Given the description of an element on the screen output the (x, y) to click on. 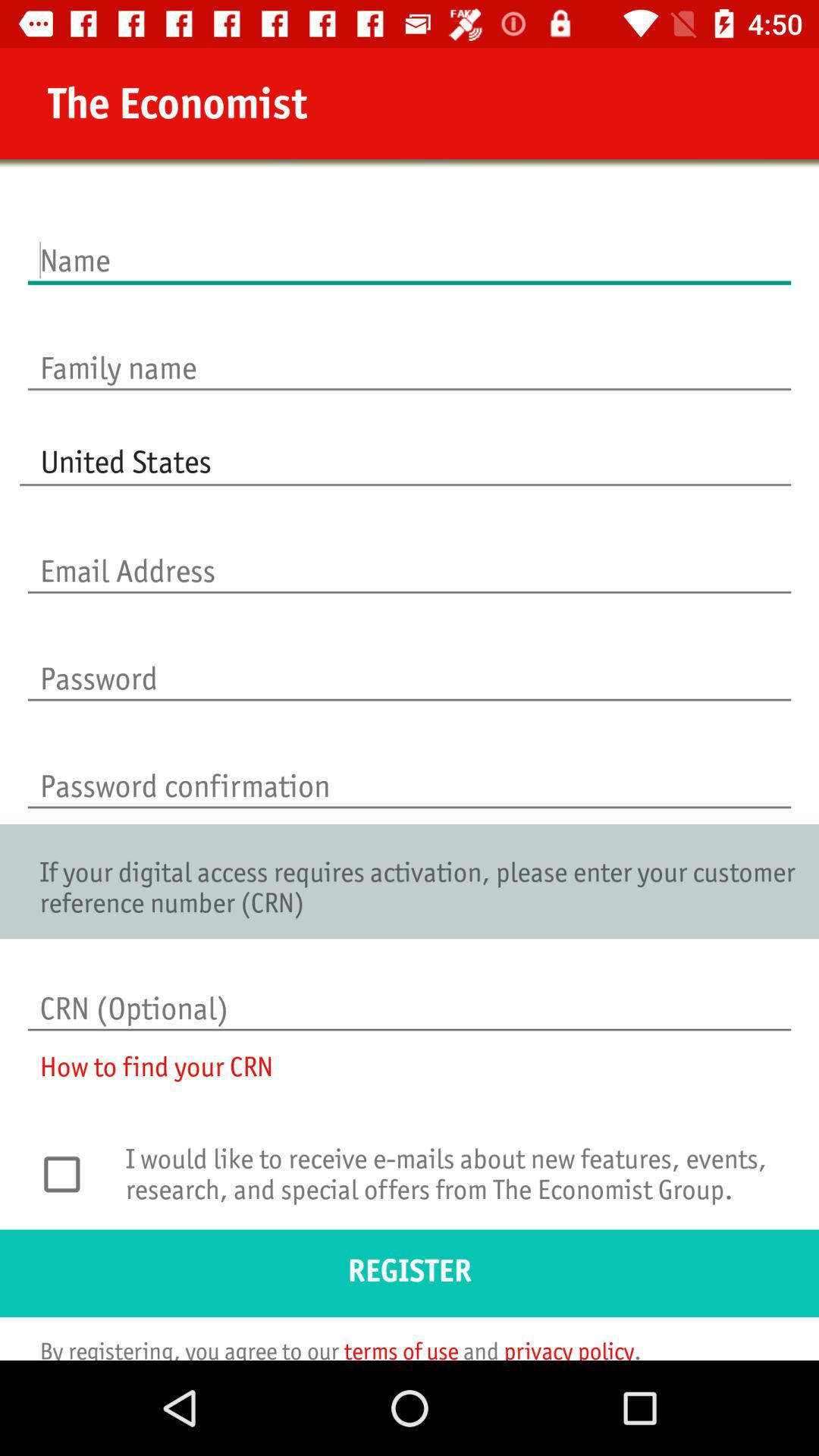
enter password (409, 662)
